Given the description of an element on the screen output the (x, y) to click on. 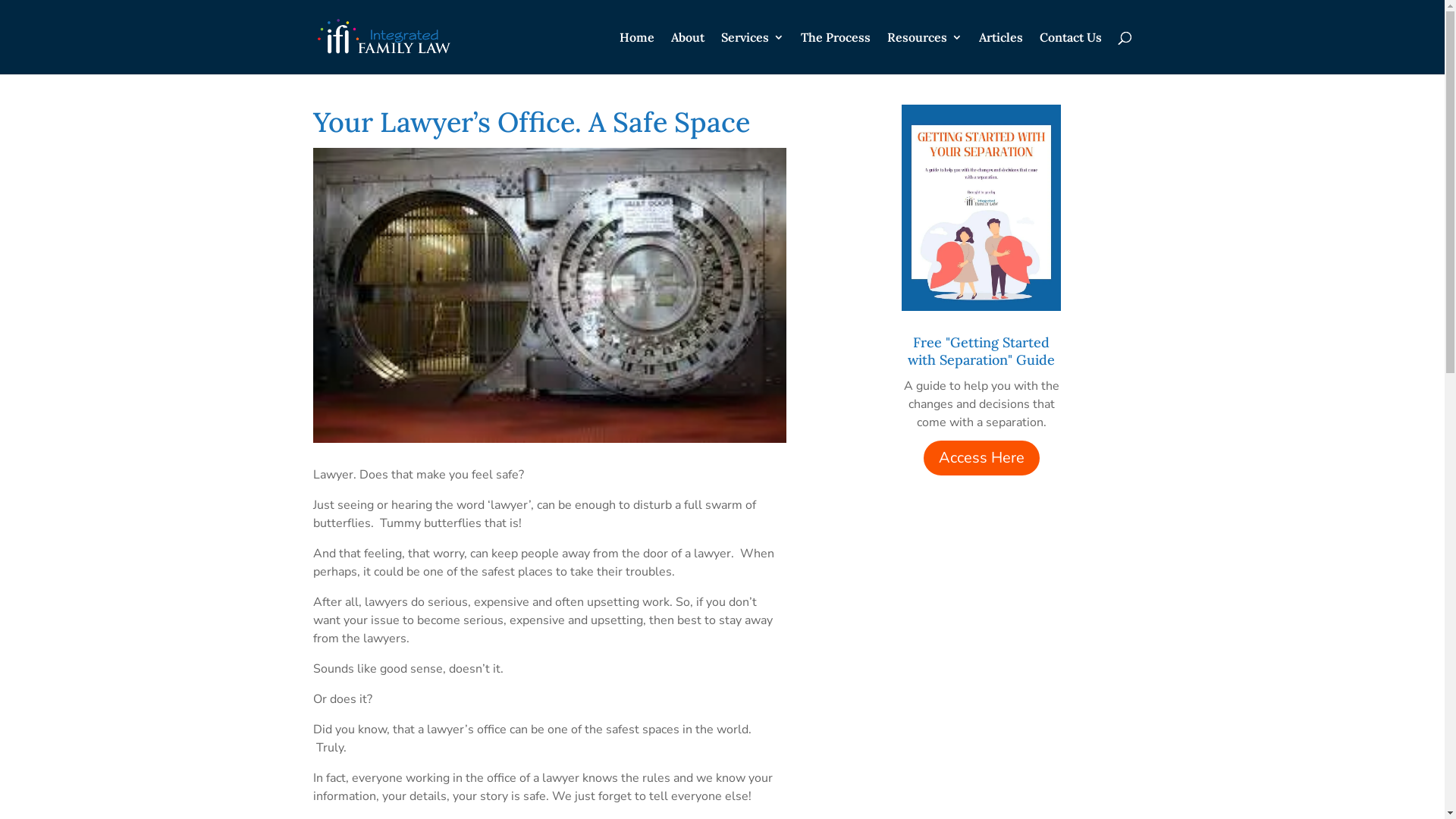
Articles Element type: text (1000, 52)
Services Element type: text (751, 52)
Contact Us Element type: text (1069, 52)
About Element type: text (686, 52)
The Process Element type: text (835, 52)
Free "Getting Started with Separation" Guide Element type: text (980, 350)
Resources Element type: text (924, 52)
Access Here Element type: text (981, 457)
Home Element type: text (635, 52)
IFL Bank-Vault Element type: hover (548, 294)
